Given the description of an element on the screen output the (x, y) to click on. 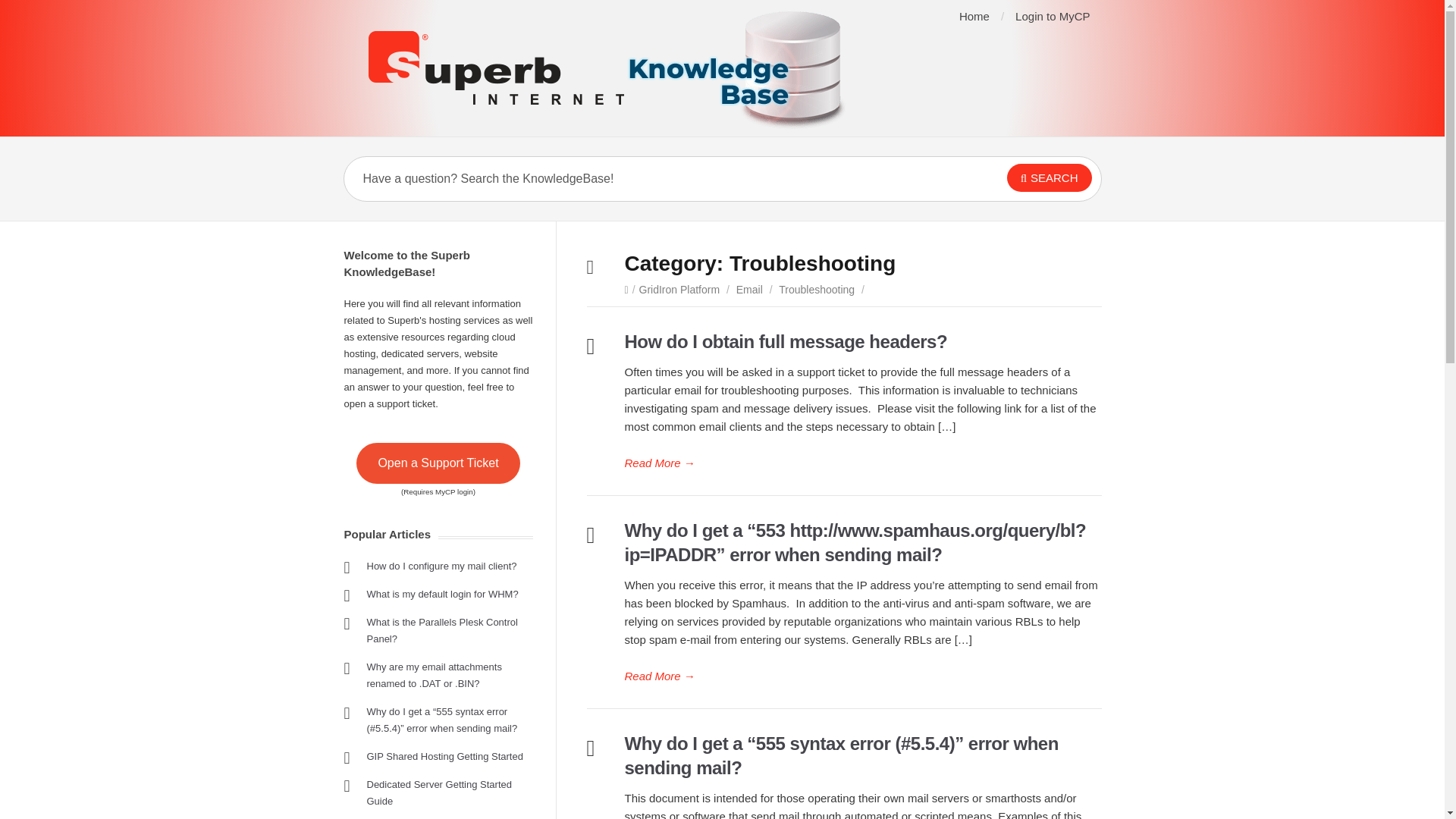
Have a question? Search the KnowledgeBase! (646, 178)
How do I obtain full message headers? (785, 341)
Superb KnowledgeBase (607, 68)
Dedicated Server Getting Started Guide (439, 792)
GIP Shared Hosting Getting Started (444, 756)
Why are my email attachments renamed to .DAT or .BIN? (434, 674)
What is my default login for WHM? (442, 593)
Home (974, 15)
Login to MyCP (1051, 15)
Troubleshooting (816, 289)
Open a Support Ticket (437, 463)
How do I obtain full message headers? (863, 463)
SEARCH (1049, 177)
GridIron Platform (679, 289)
Email (749, 289)
